Given the description of an element on the screen output the (x, y) to click on. 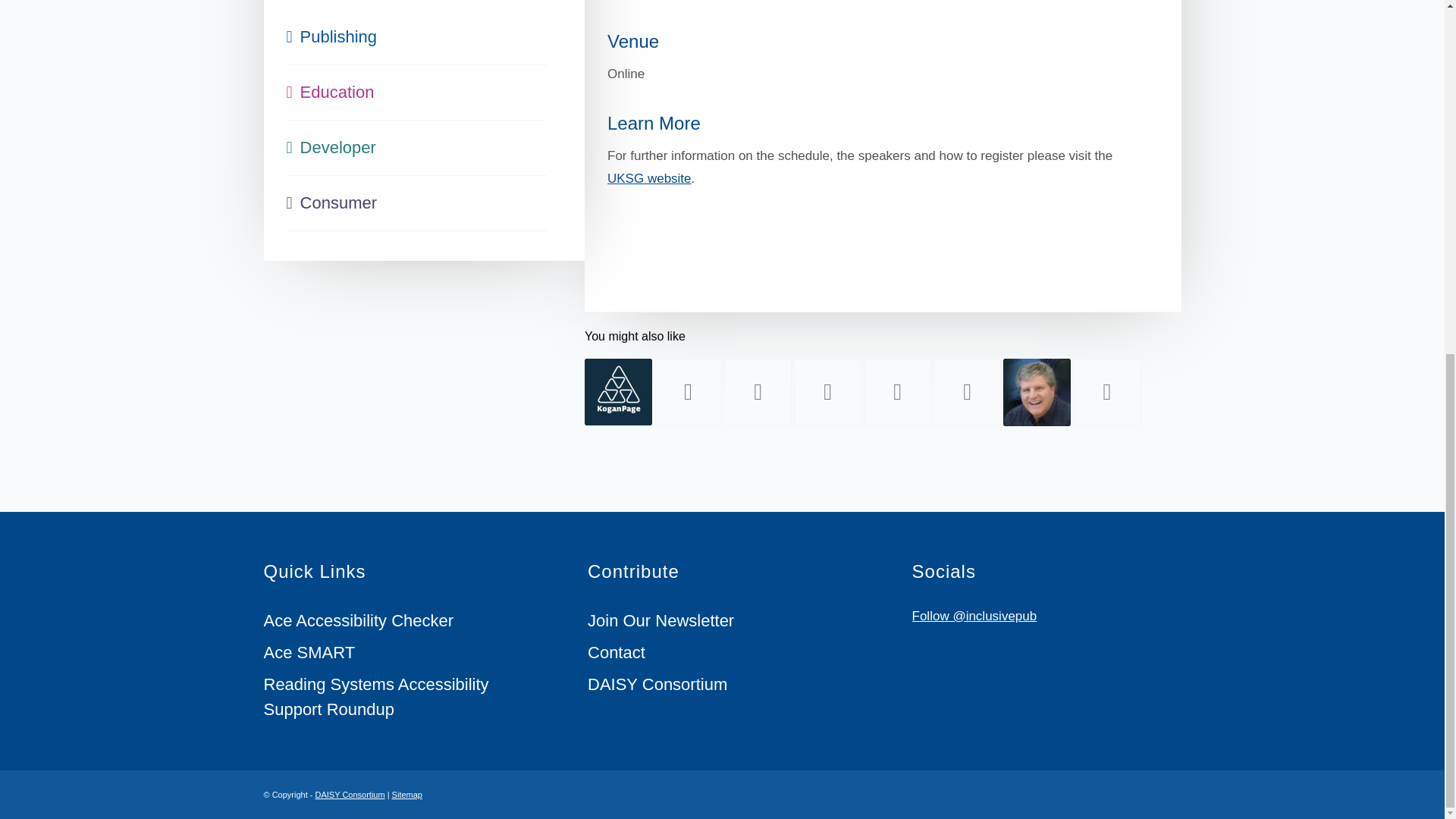
Accessibility in Publishing: A Case Study from Kogan Page (618, 391)
EPUBCheck Development Update (757, 391)
UKSG website (649, 178)
Rumble in the Publishing Jungle: PDF and EPUB Duke It Out! (687, 391)
